Given the description of an element on the screen output the (x, y) to click on. 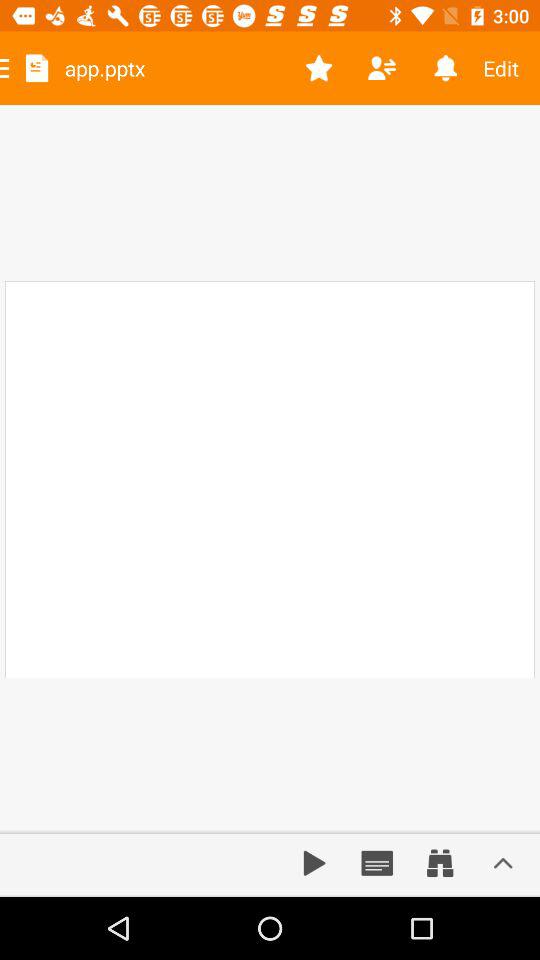
turn on edit item (508, 68)
